Given the description of an element on the screen output the (x, y) to click on. 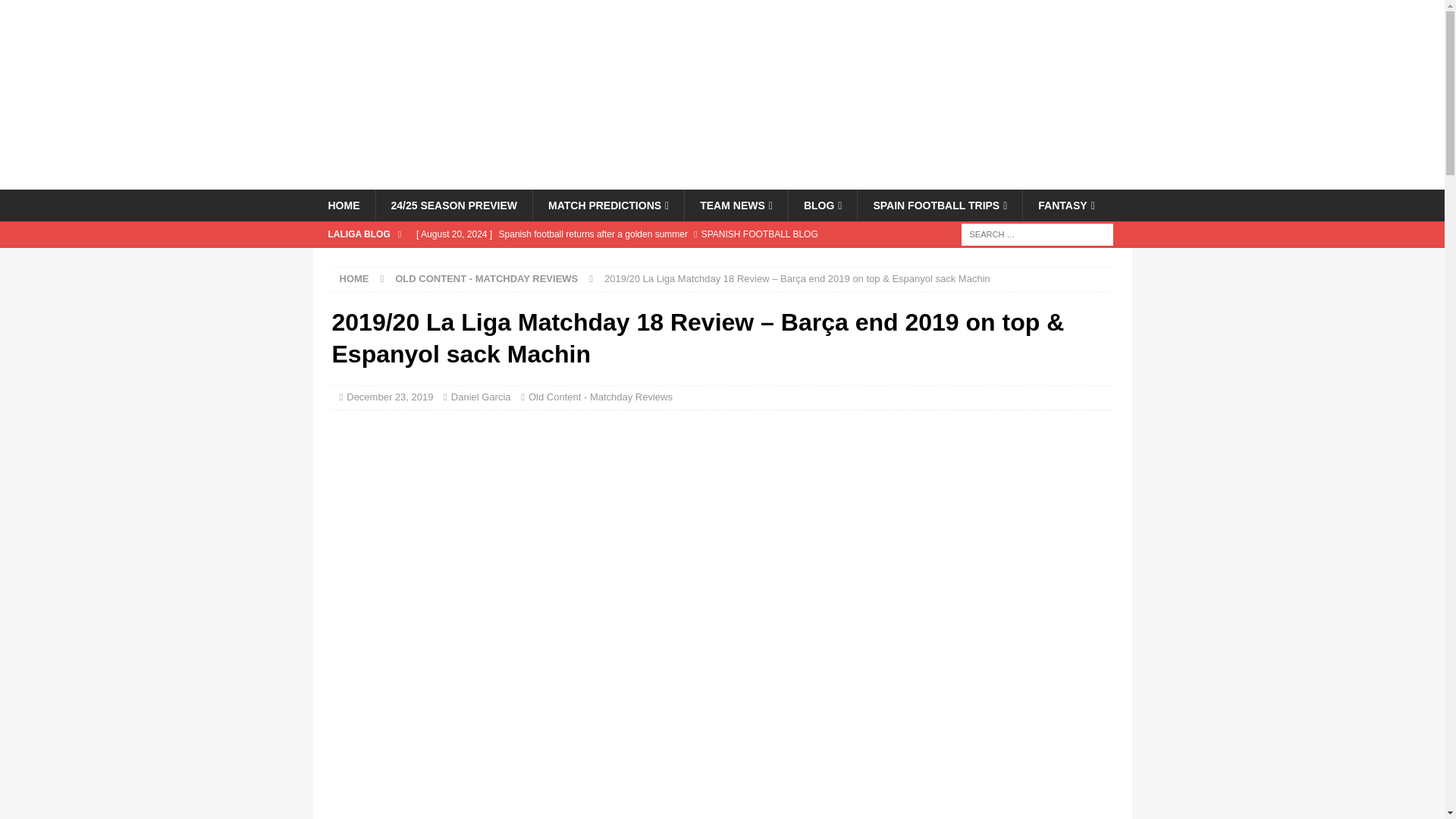
BLOG (822, 205)
LaLiga Expert (722, 181)
SPAIN FOOTBALL TRIPS (939, 205)
HOME (343, 205)
MATCH PREDICTIONS (608, 205)
TEAM NEWS (735, 205)
Spanish football returns after a golden summer (625, 234)
